Given the description of an element on the screen output the (x, y) to click on. 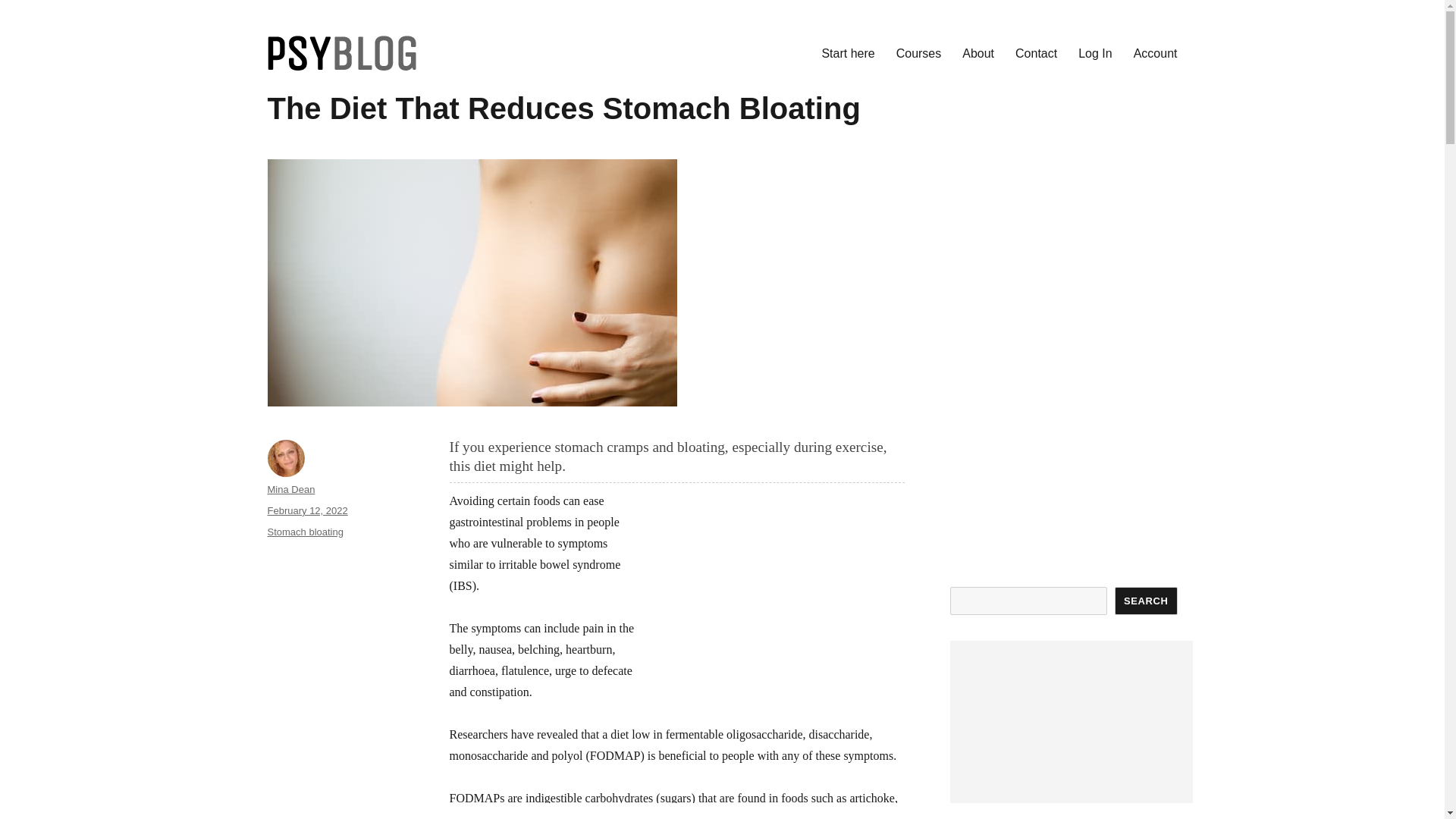
Log In (1094, 52)
Account (1155, 52)
Courses (918, 52)
Start here (847, 52)
PsyBlog (309, 94)
Advertisement (1062, 333)
Contact (1035, 52)
Advertisement (776, 596)
About (978, 52)
February 12, 2022 (306, 510)
Mina Dean (290, 489)
Stomach bloating (304, 531)
SEARCH (1146, 601)
